Given the description of an element on the screen output the (x, y) to click on. 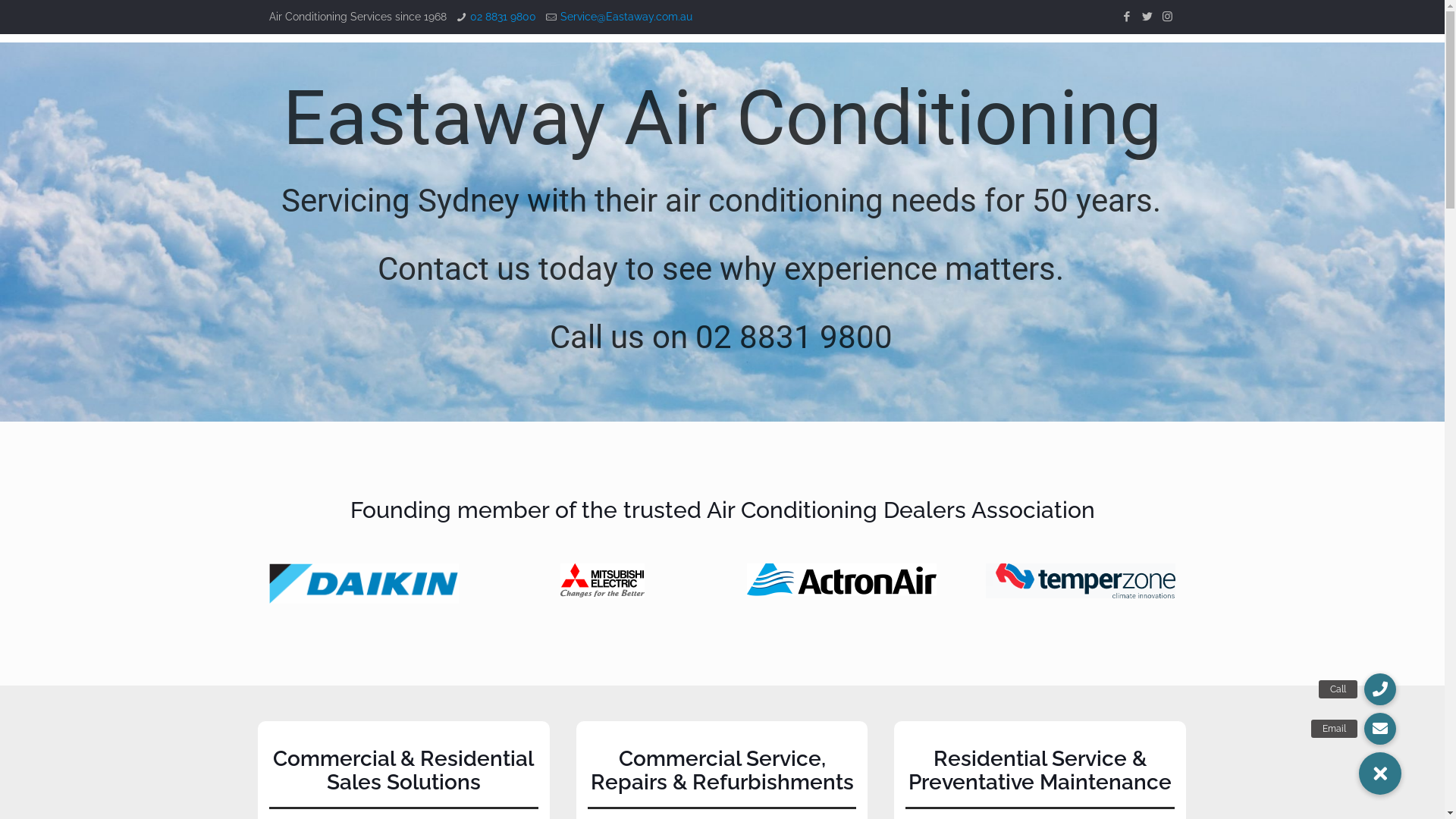
temperzone Element type: hover (1080, 580)
Service@Eastaway.com.au Element type: text (626, 16)
mitsub electric logo Element type: hover (602, 579)
Email Element type: text (1380, 728)
Facebook Element type: hover (1126, 16)
Call Element type: text (1380, 689)
ActronAir_logo2 Element type: hover (841, 578)
02 8831 9800 Element type: text (503, 16)
daikin-logo Element type: hover (363, 582)
Twitter Element type: hover (1146, 16)
Instagram Element type: hover (1167, 16)
